Given the description of an element on the screen output the (x, y) to click on. 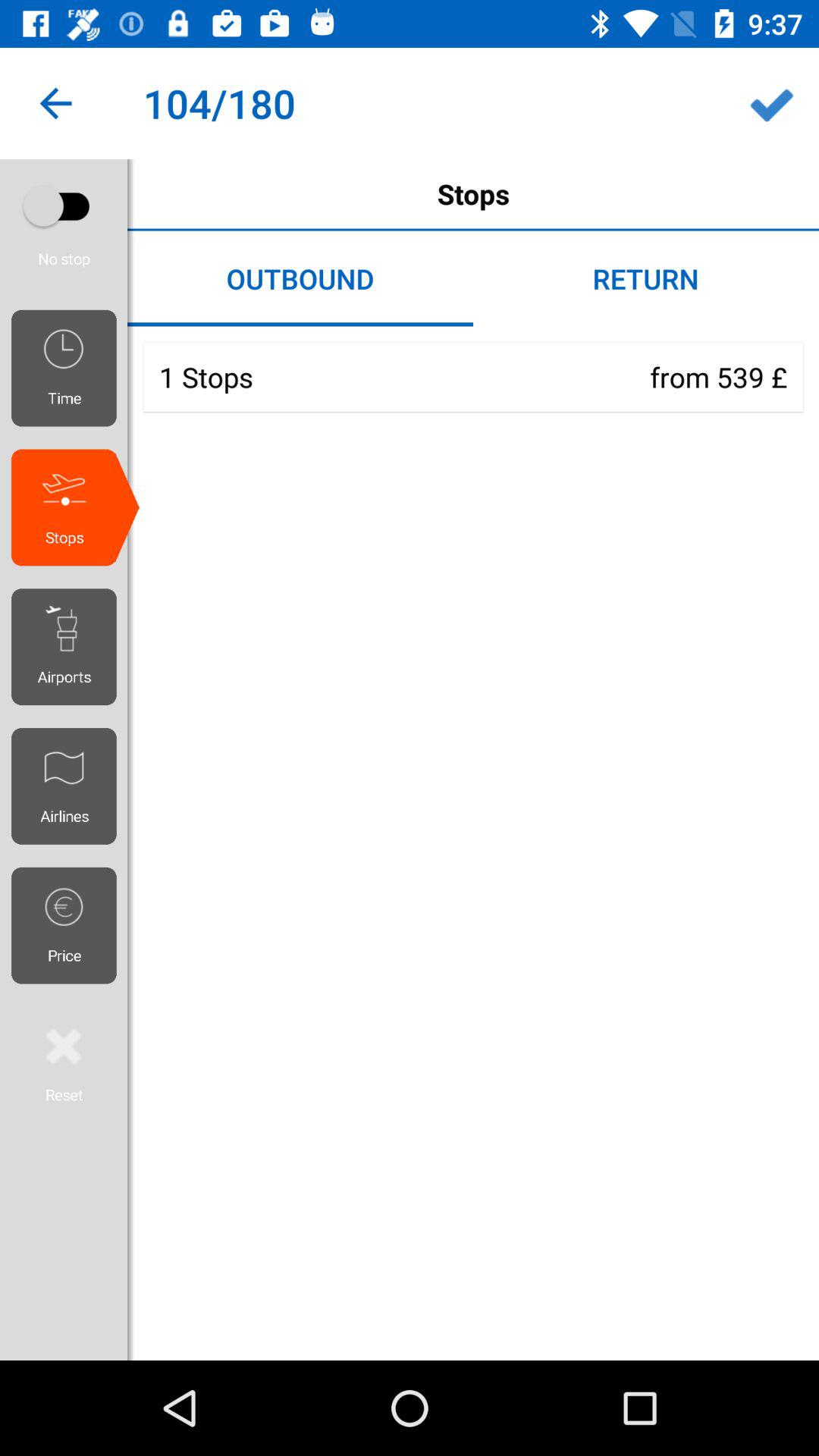
click icon below the stops (69, 646)
